Given the description of an element on the screen output the (x, y) to click on. 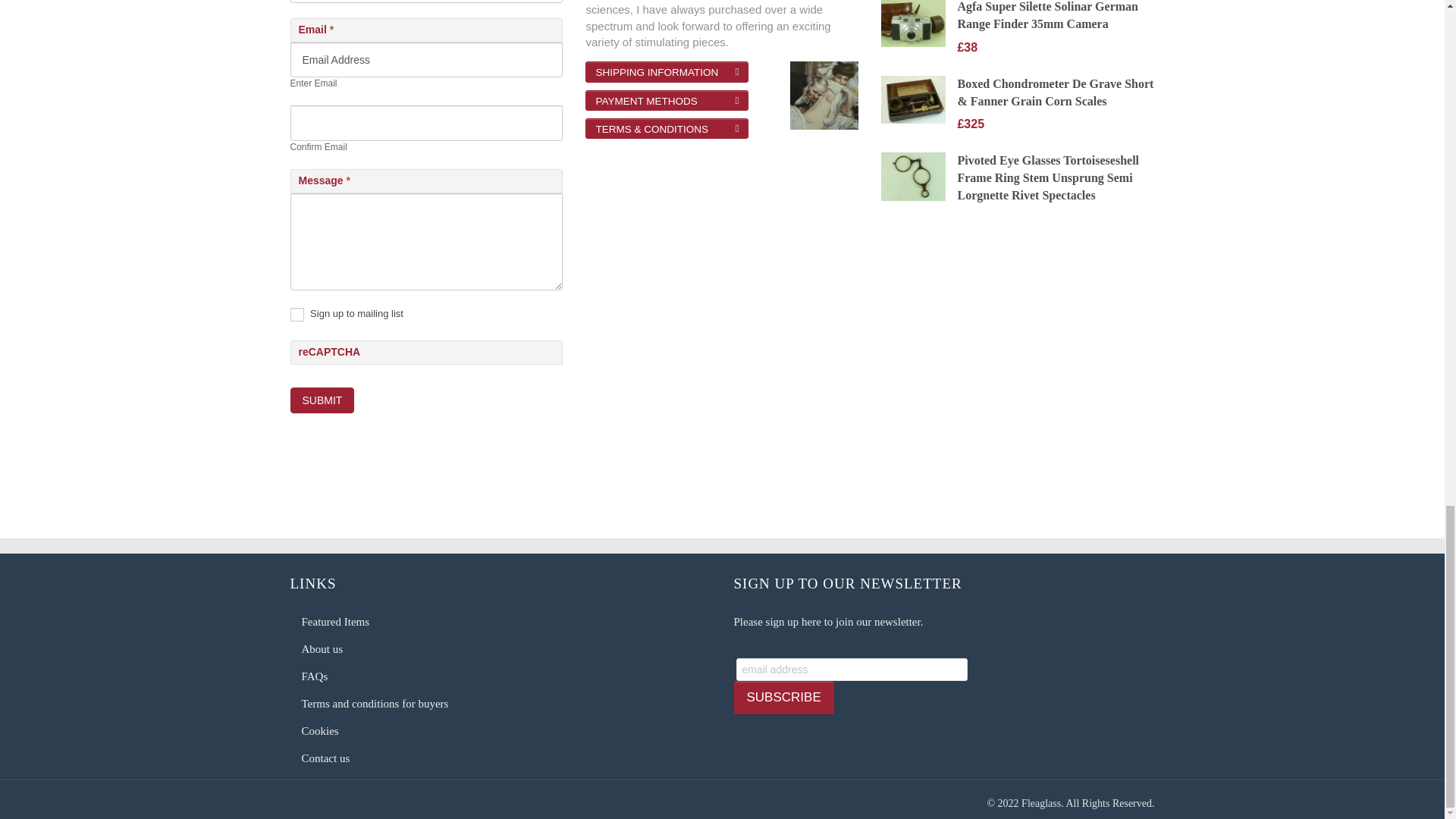
Sign up to mailing list (295, 314)
Name (425, 1)
Email Address (425, 59)
Subscribe (783, 697)
Submit (321, 400)
